Given the description of an element on the screen output the (x, y) to click on. 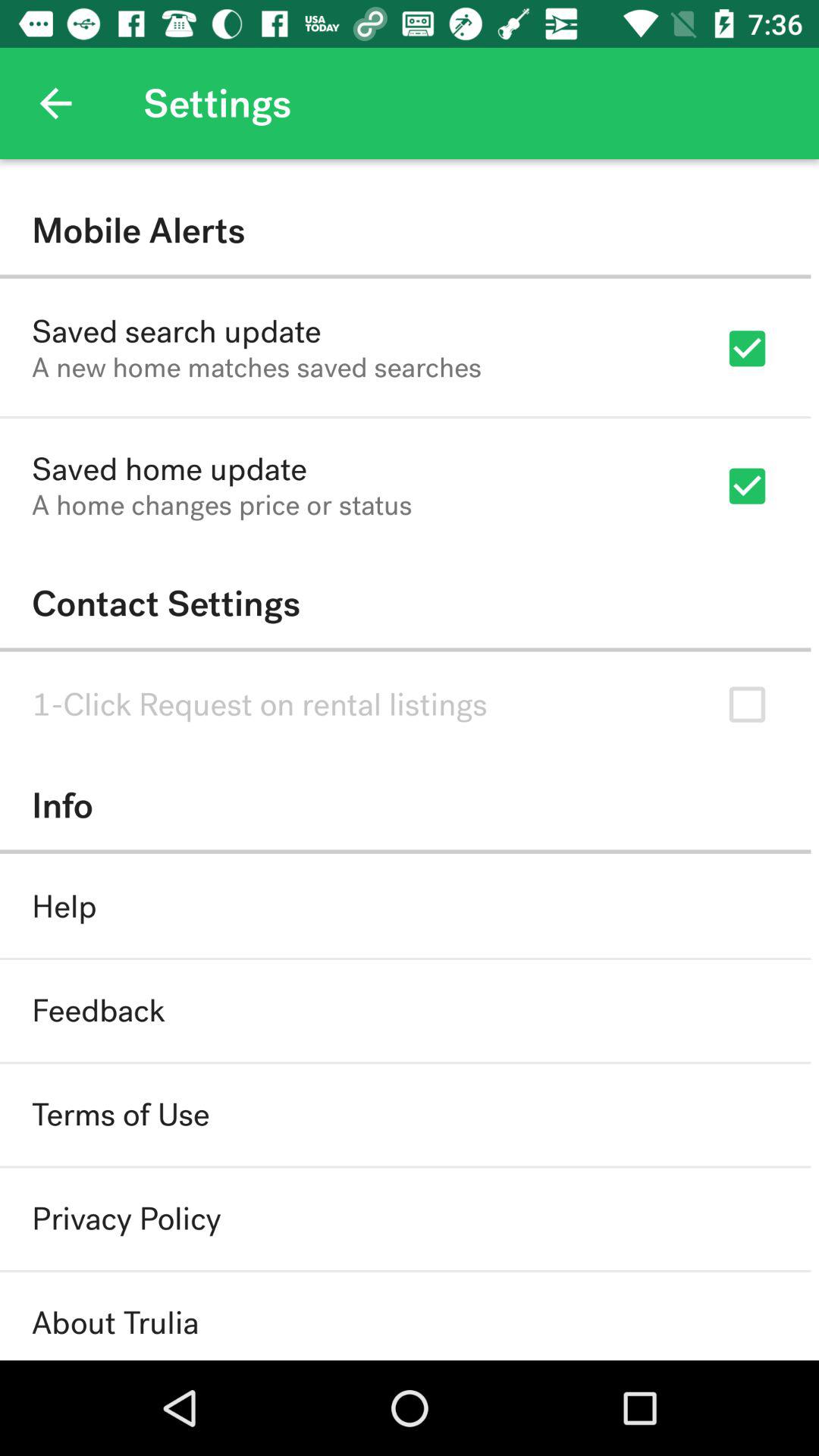
choose terms of use (120, 1114)
